Given the description of an element on the screen output the (x, y) to click on. 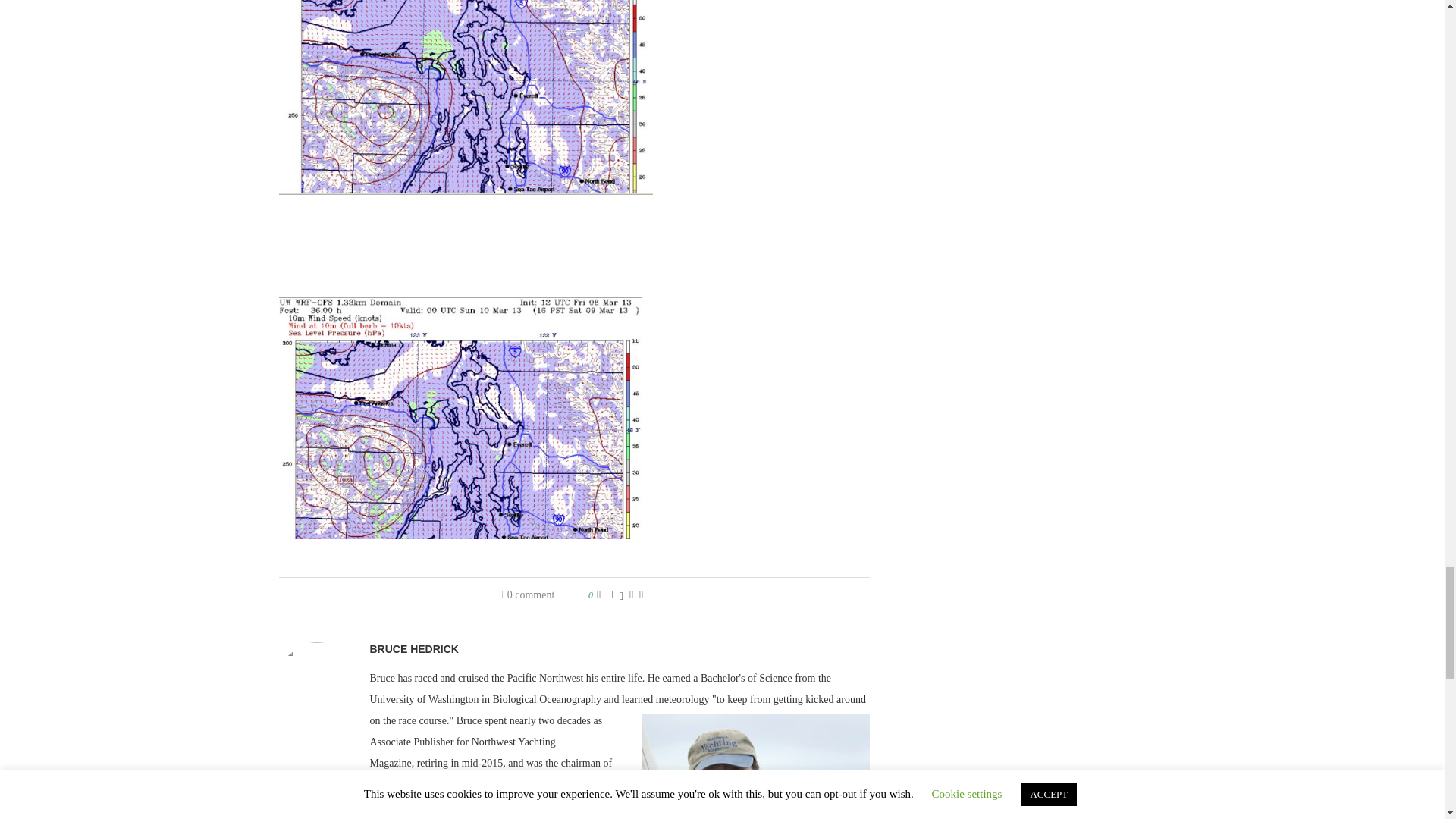
Author Bruce Hedrick (413, 649)
